Given the description of an element on the screen output the (x, y) to click on. 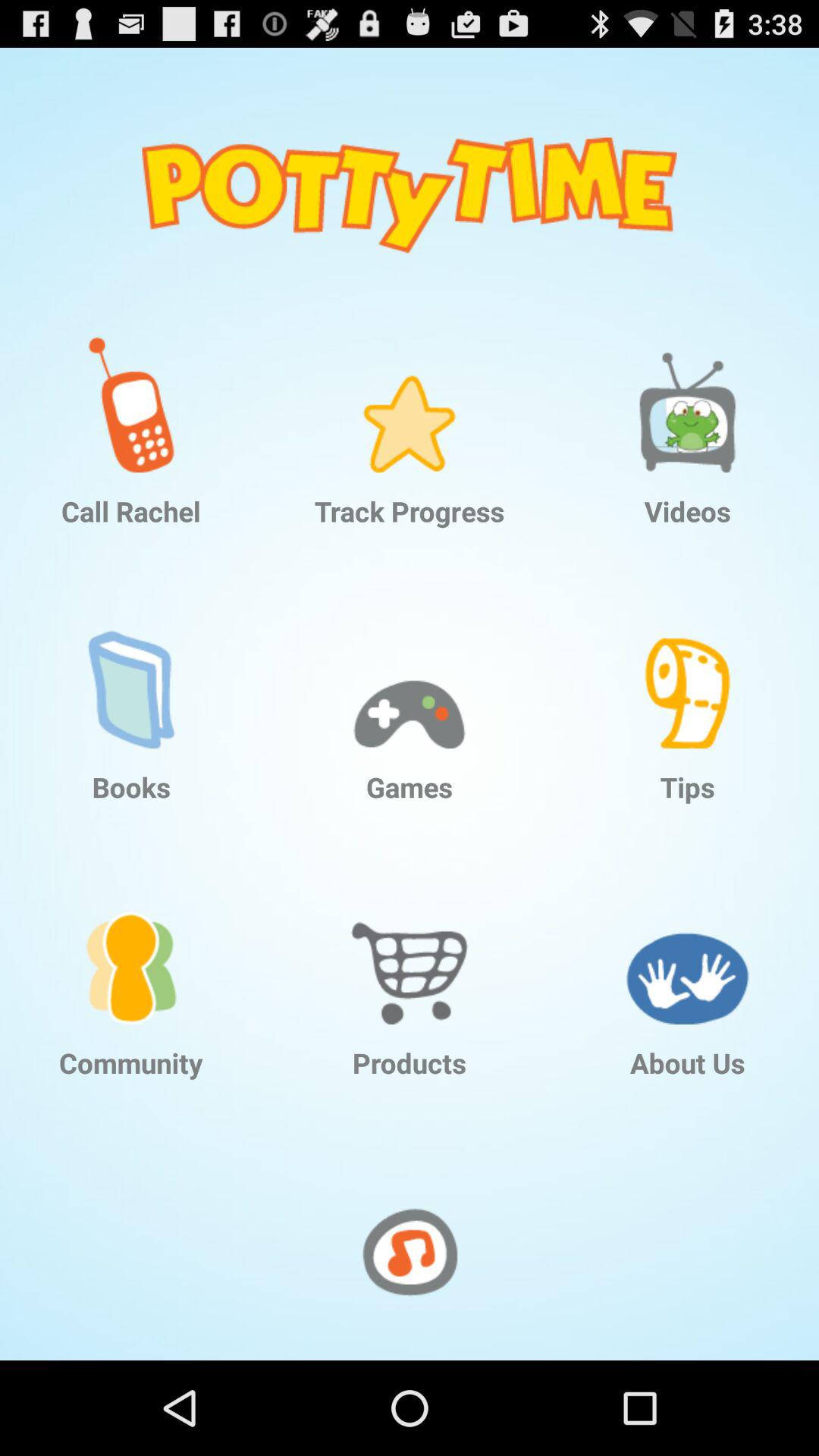
click the icon above books item (131, 668)
